Given the description of an element on the screen output the (x, y) to click on. 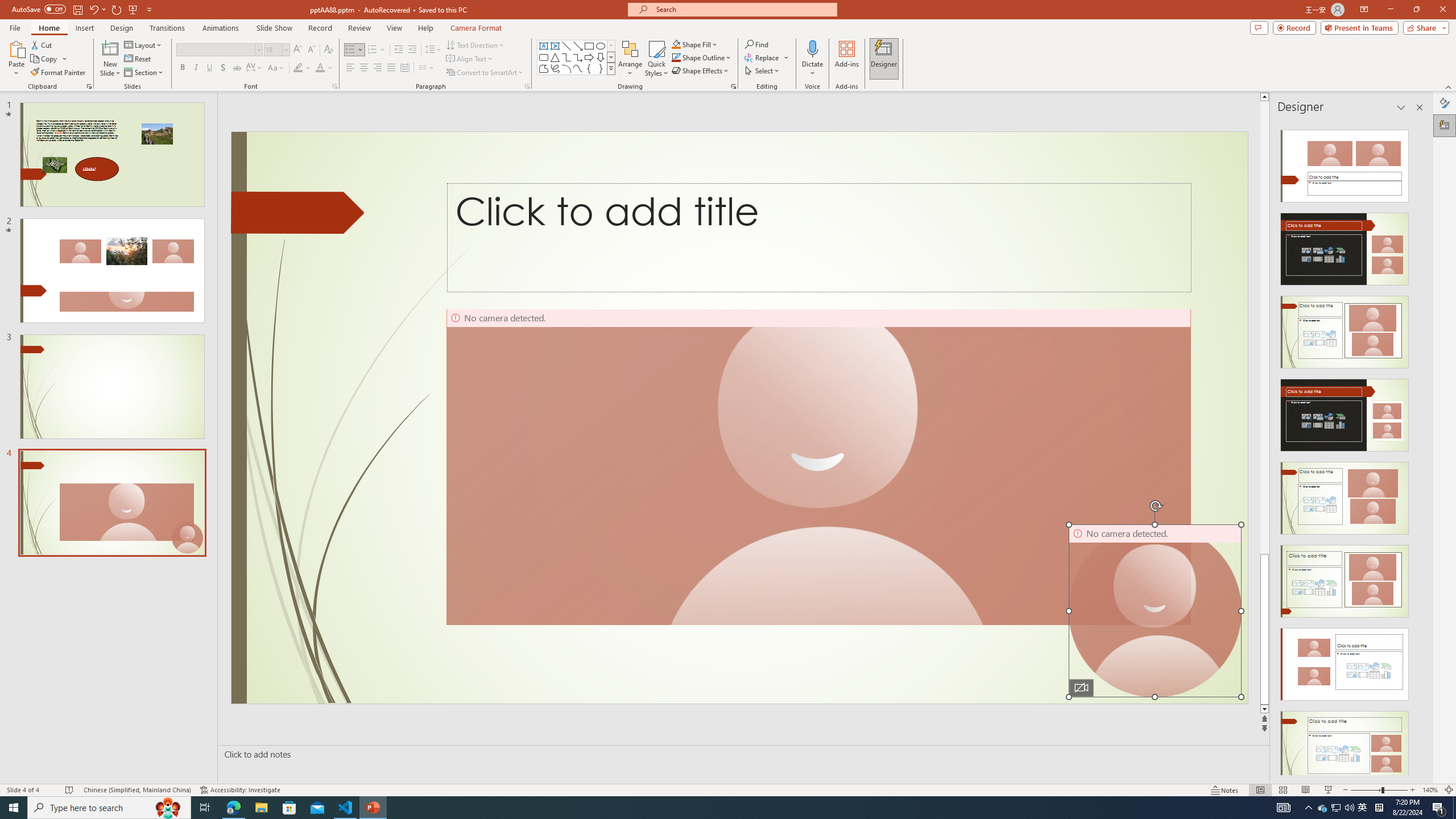
Zoom 140% (1430, 790)
Spell Check No Errors (69, 790)
Font Size (273, 49)
Designer (1444, 125)
Distributed (404, 67)
Convert to SmartArt (485, 72)
Zoom (1379, 790)
Reading View (1305, 790)
Numbering (372, 49)
Insert (83, 28)
Bullets (349, 49)
Task Pane Options (1400, 107)
Decrease Font Size (310, 49)
Class: MsoCommandBar (728, 789)
Numbering (376, 49)
